Given the description of an element on the screen output the (x, y) to click on. 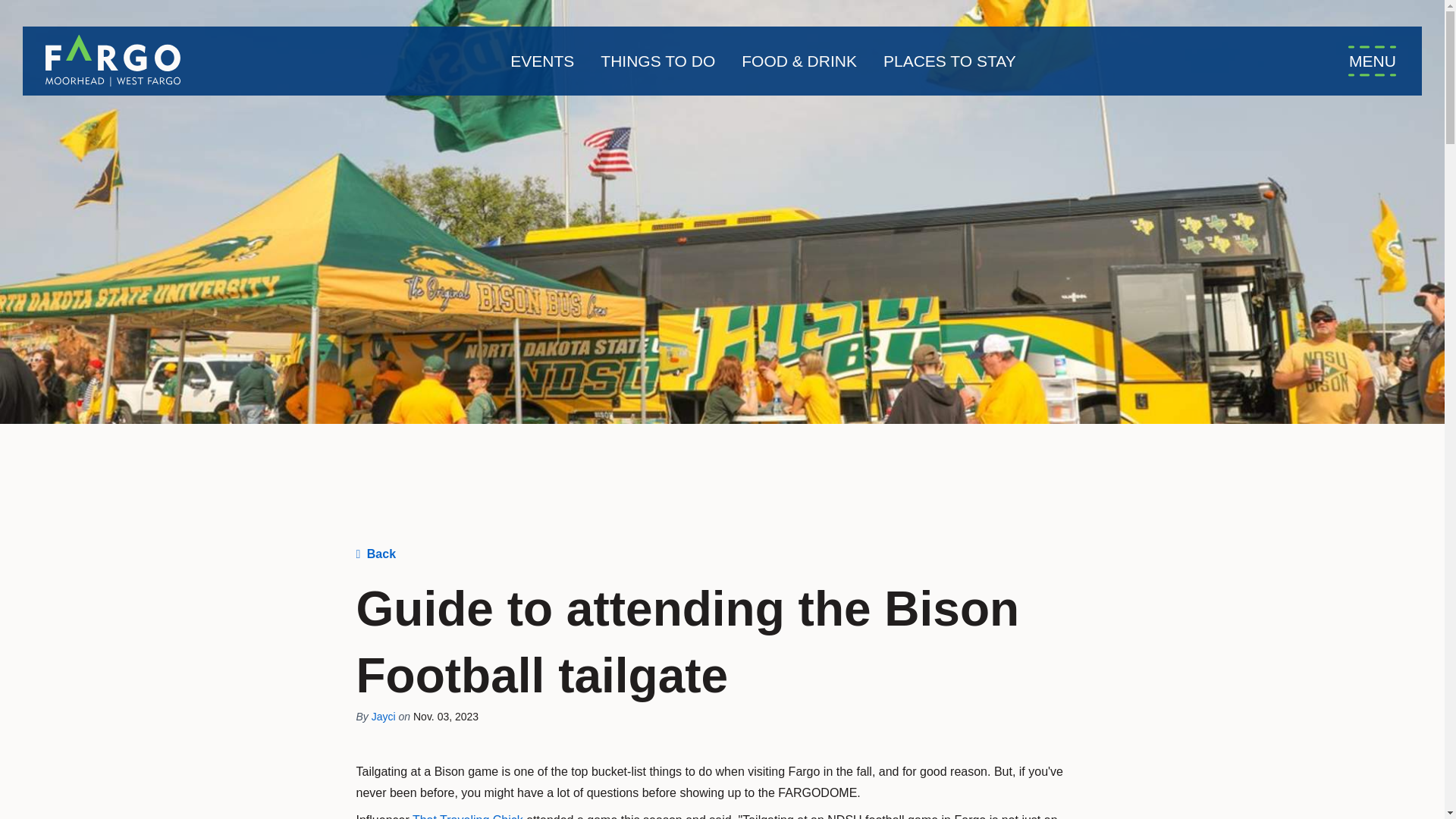
EVENTS (542, 61)
THINGS TO DO (656, 61)
PLACES TO STAY (949, 61)
